Given the description of an element on the screen output the (x, y) to click on. 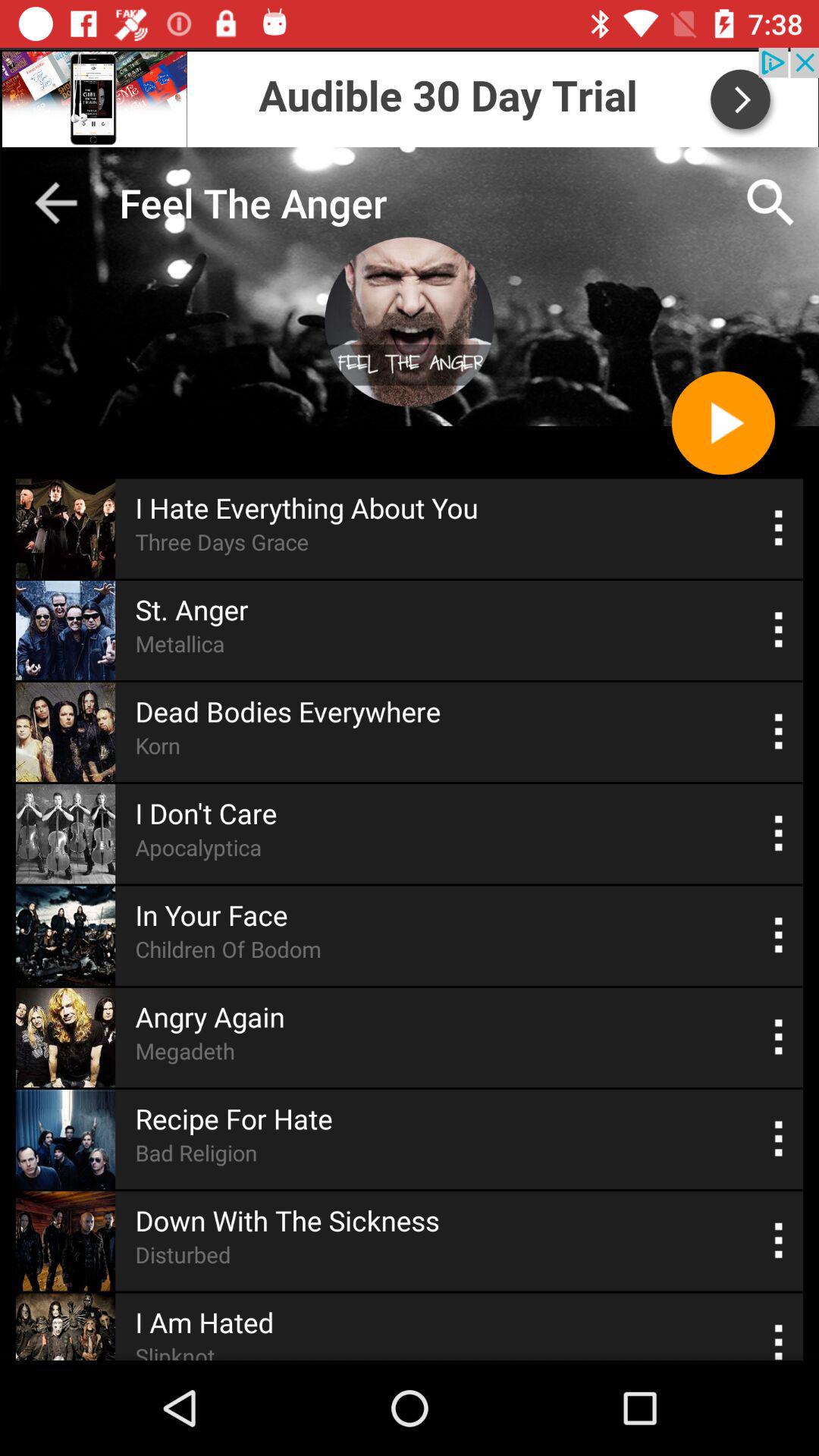
play video (723, 422)
